Given the description of an element on the screen output the (x, y) to click on. 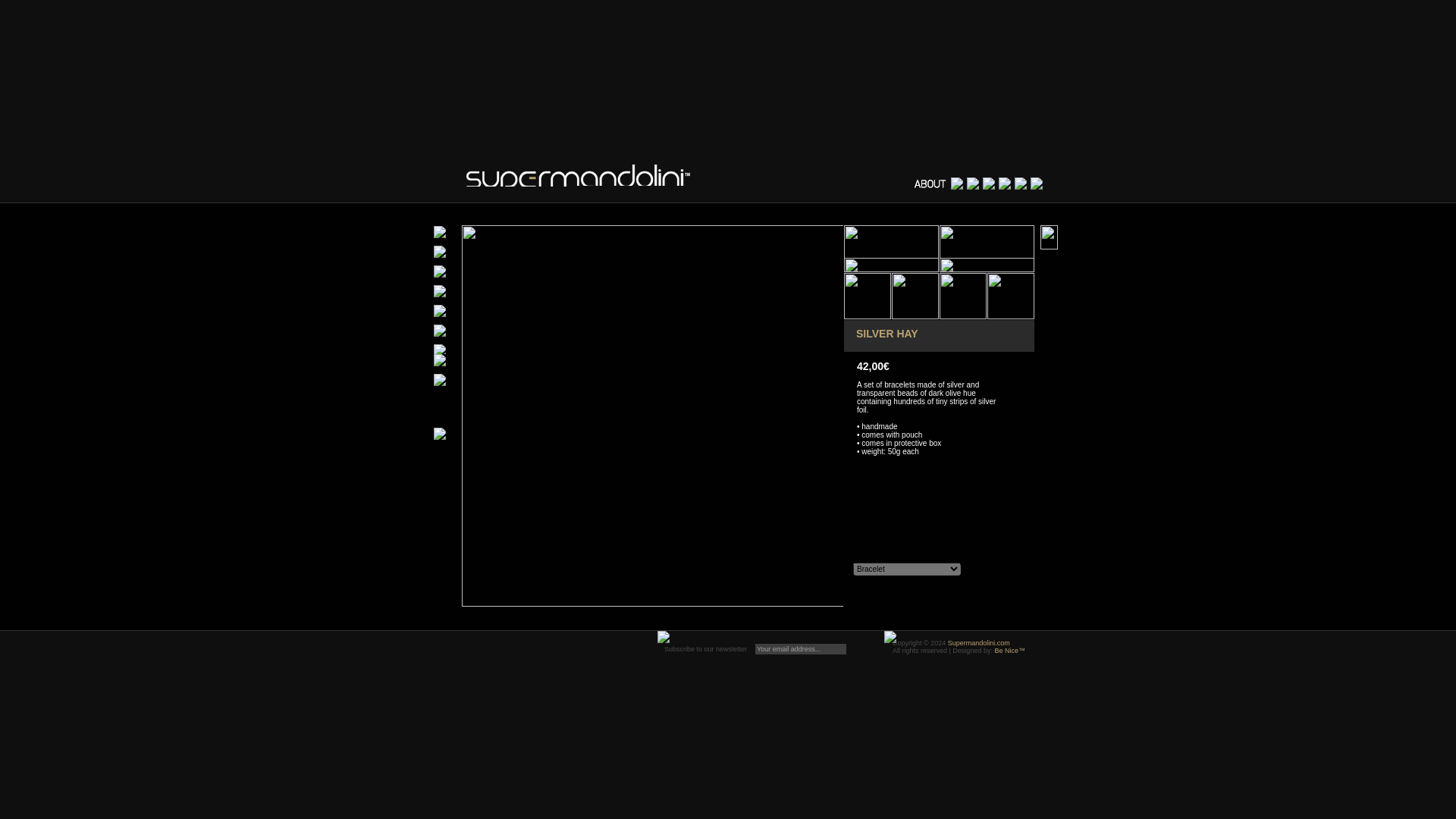
Your email address... (800, 648)
